Given the description of an element on the screen output the (x, y) to click on. 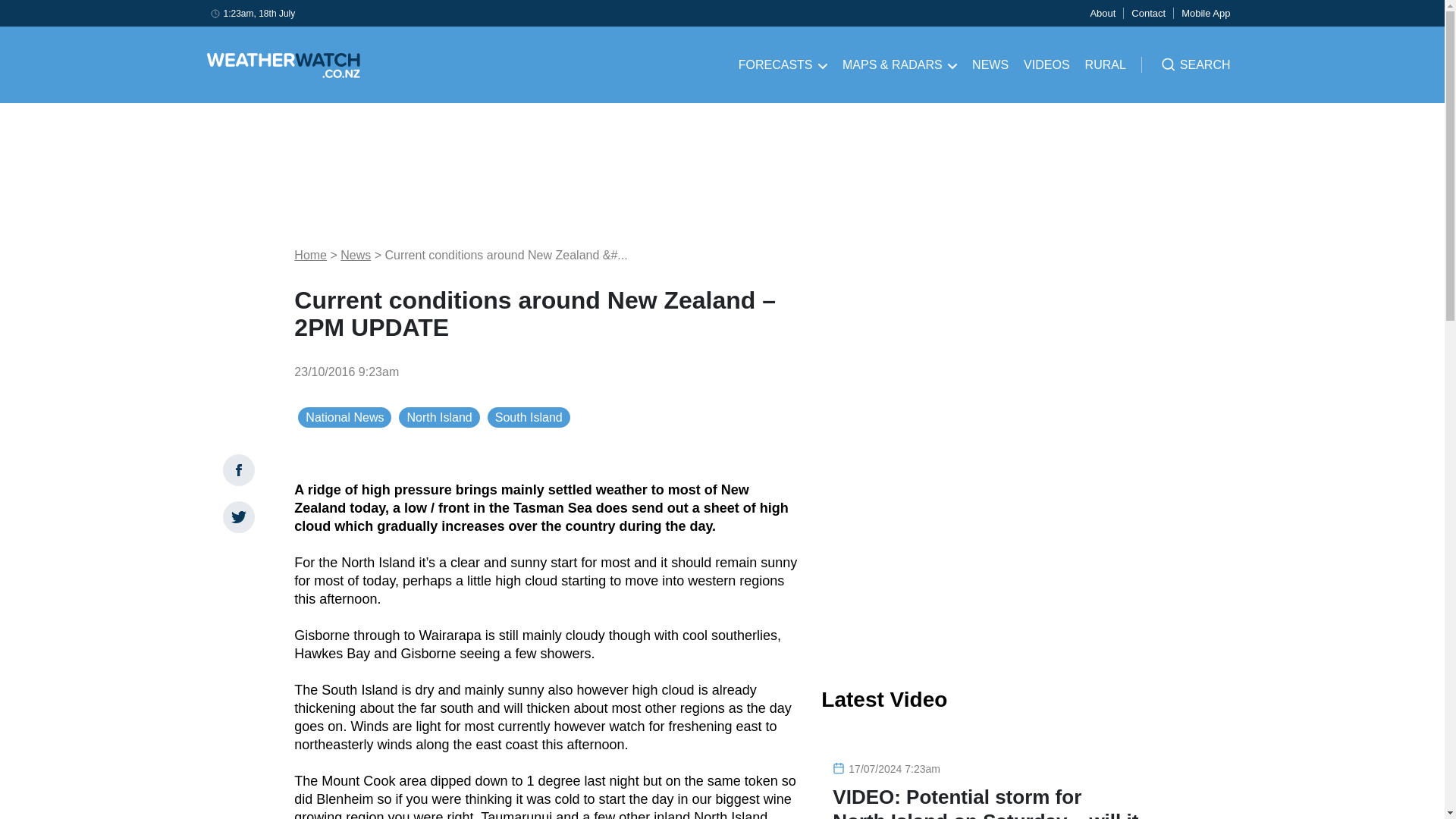
Contact (1148, 12)
3rd party ad content (985, 548)
About (1102, 12)
FORECASTS (782, 64)
Mobile App (1205, 12)
